Given the description of an element on the screen output the (x, y) to click on. 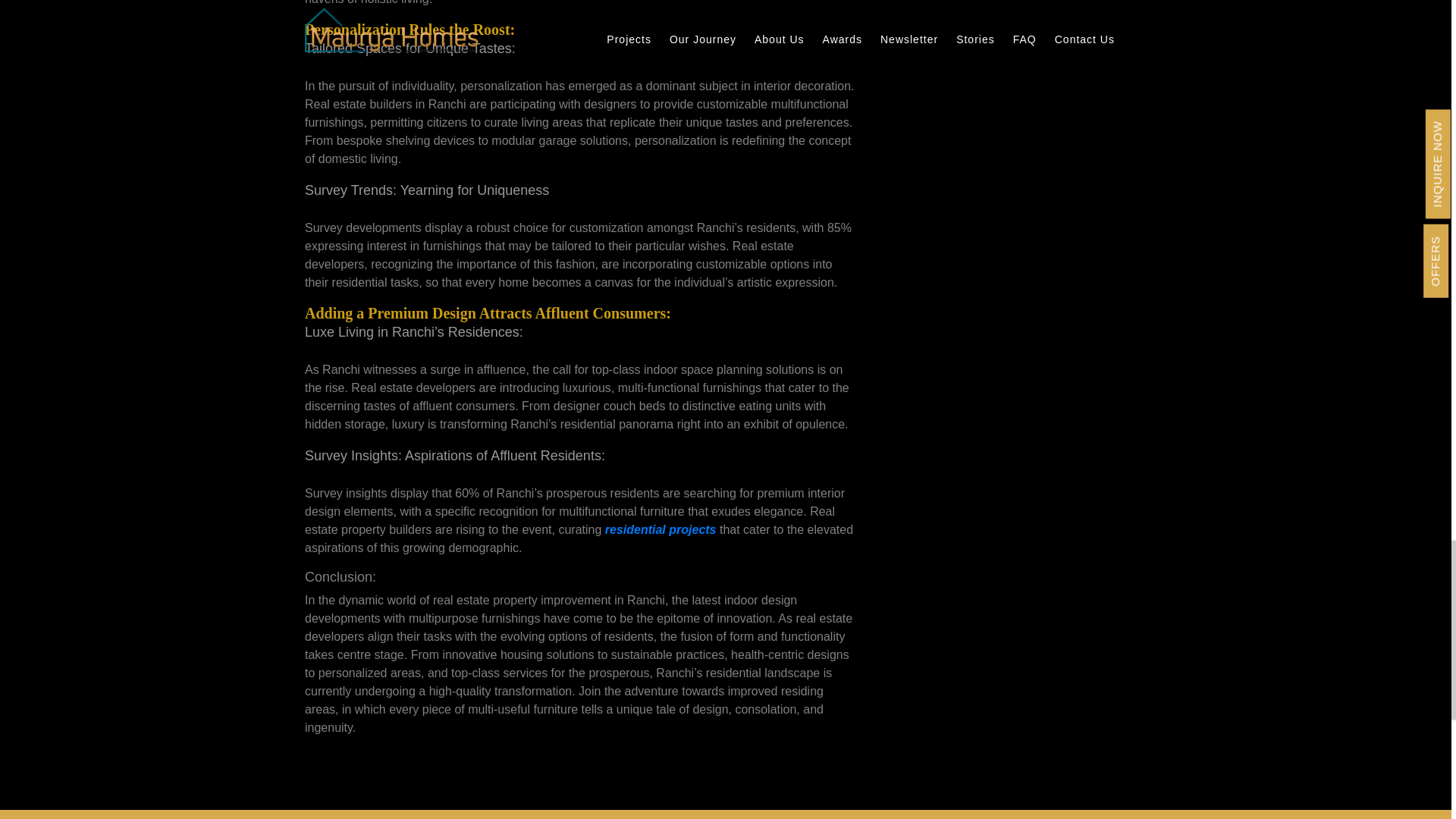
residential projects (660, 529)
